Given the description of an element on the screen output the (x, y) to click on. 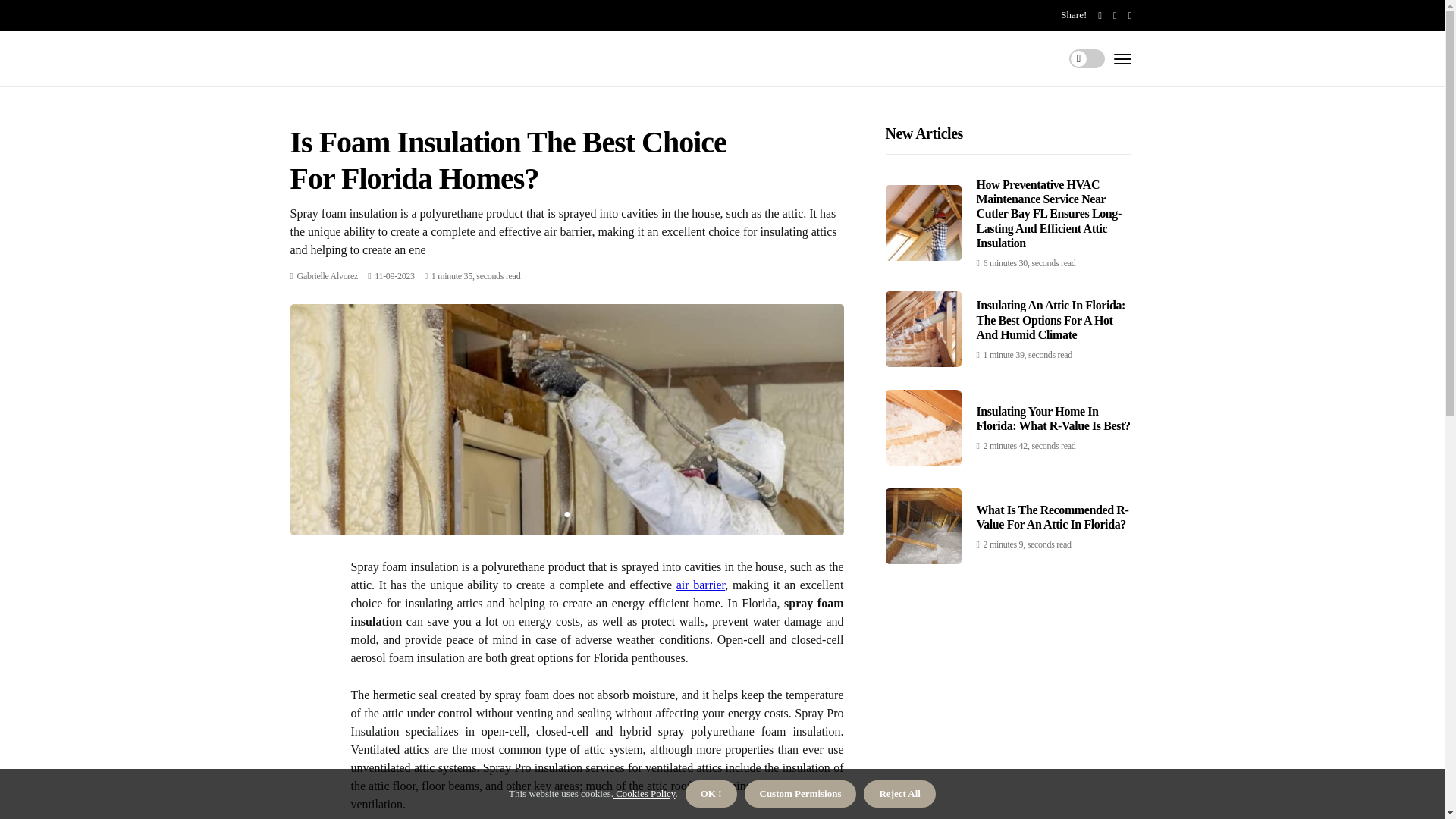
What Is The Recommended R-Value For An Attic In Florida? (1052, 516)
air barrier (701, 584)
Posts by Gabrielle Alvorez (327, 276)
Gabrielle Alvorez (327, 276)
Insulating Your Home In Florida: What R-Value Is Best? (1053, 418)
